Given the description of an element on the screen output the (x, y) to click on. 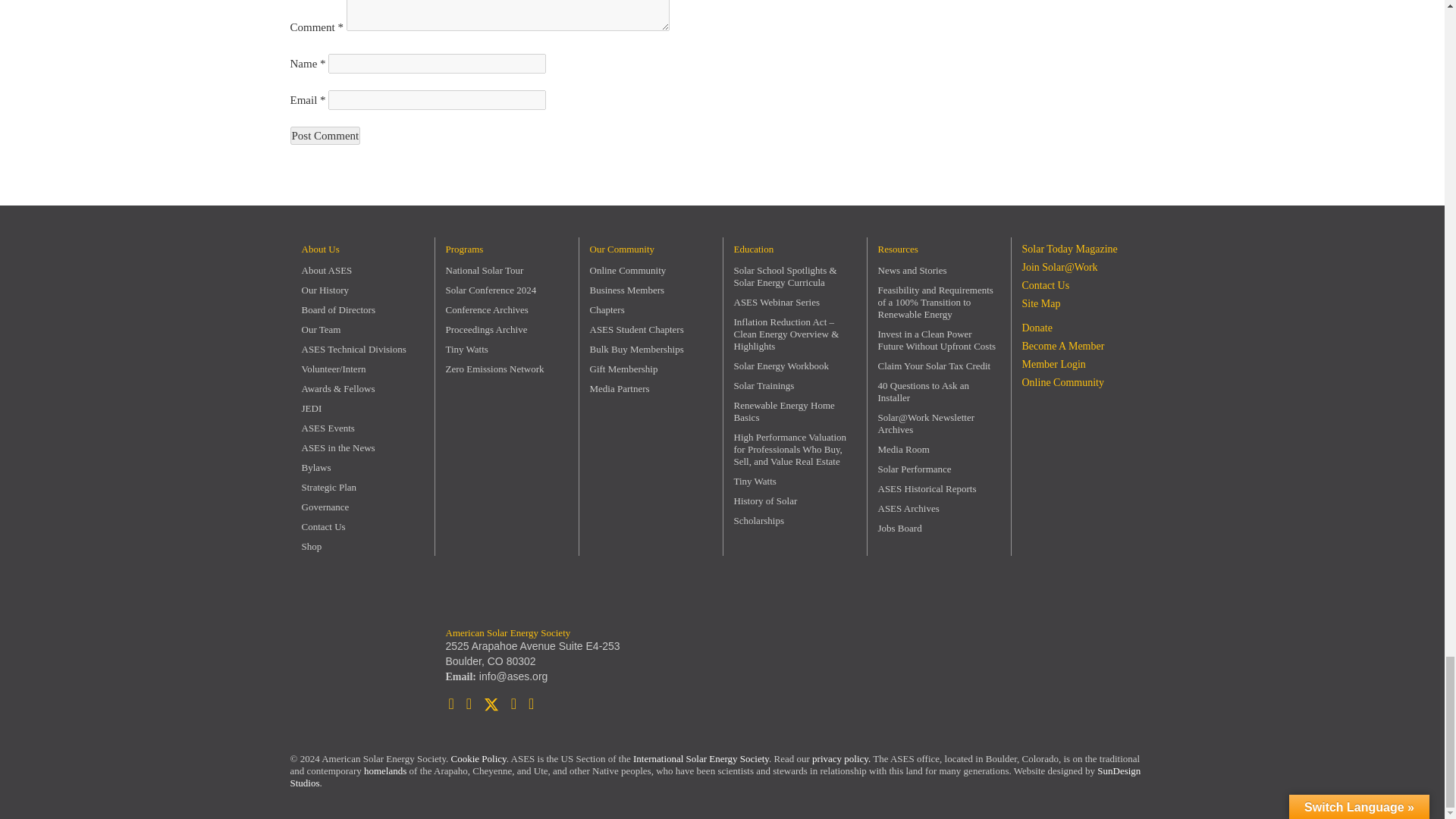
Post Comment (324, 135)
